Given the description of an element on the screen output the (x, y) to click on. 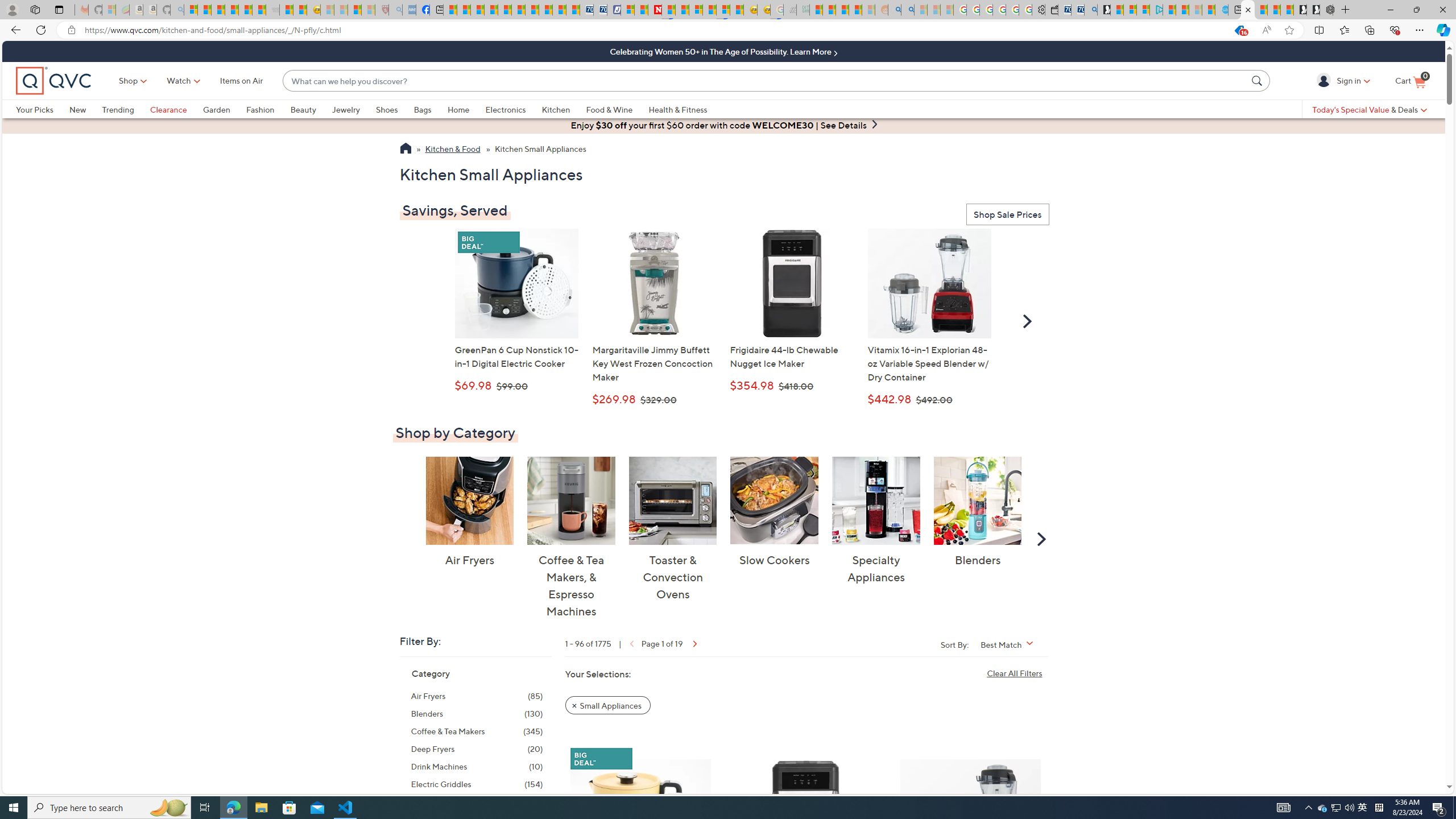
Kitchen & Food (452, 149)
Beauty (302, 109)
Blenders (977, 500)
Category (430, 673)
Sort By Best Match (1011, 644)
